Given the description of an element on the screen output the (x, y) to click on. 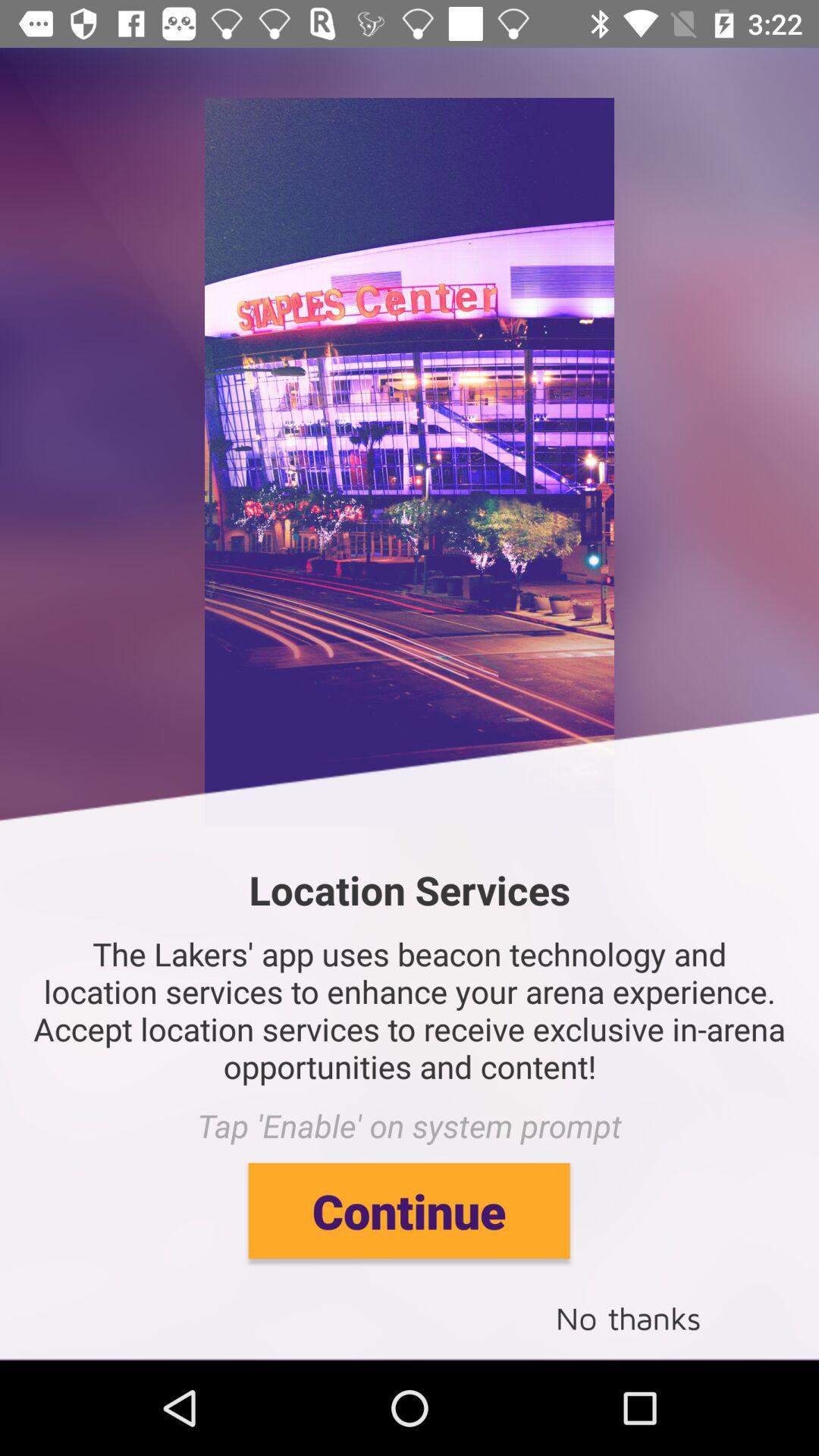
open icon below continue item (627, 1317)
